Given the description of an element on the screen output the (x, y) to click on. 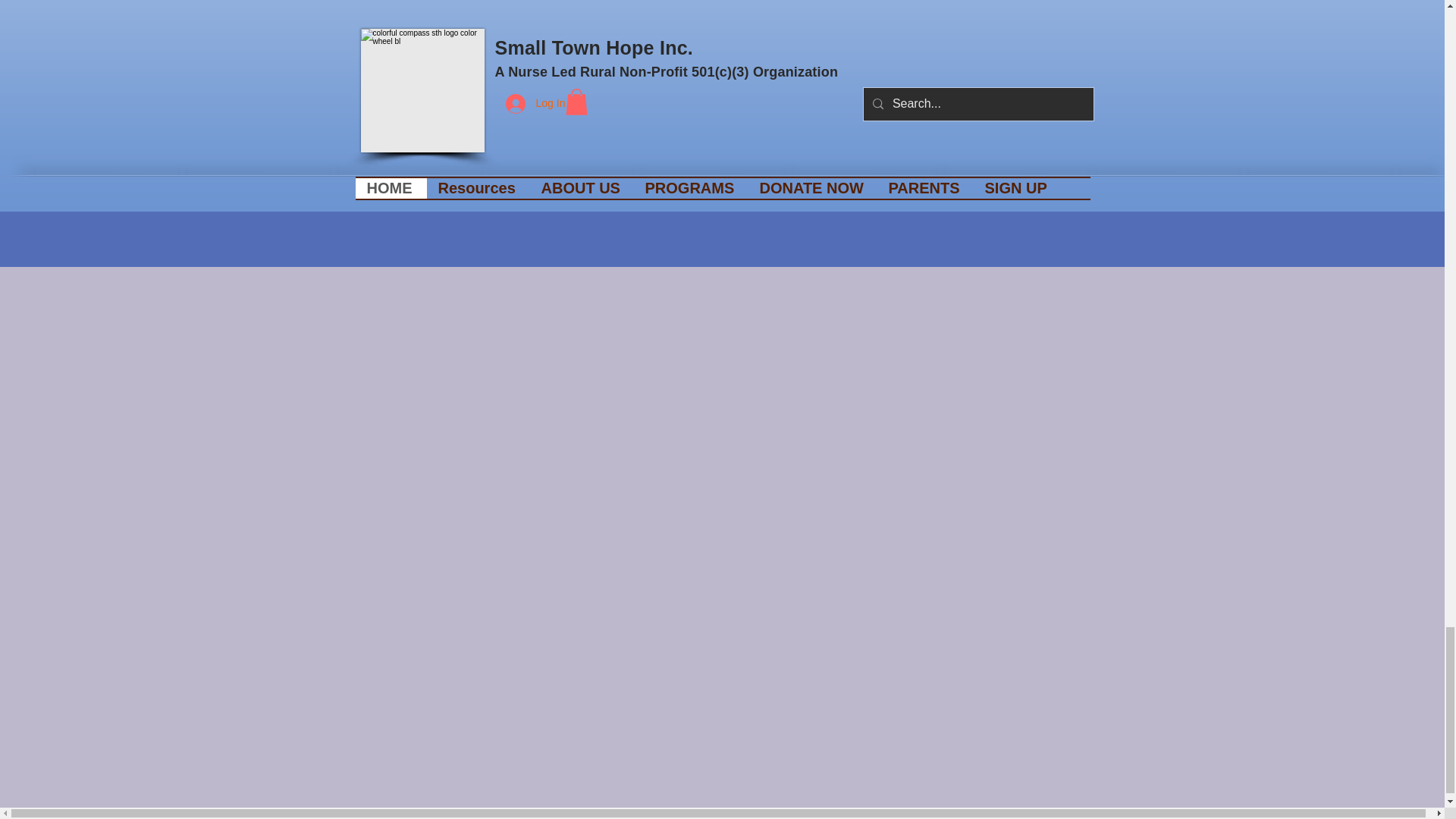
CONNECT WITH US (973, 1)
